Given the description of an element on the screen output the (x, y) to click on. 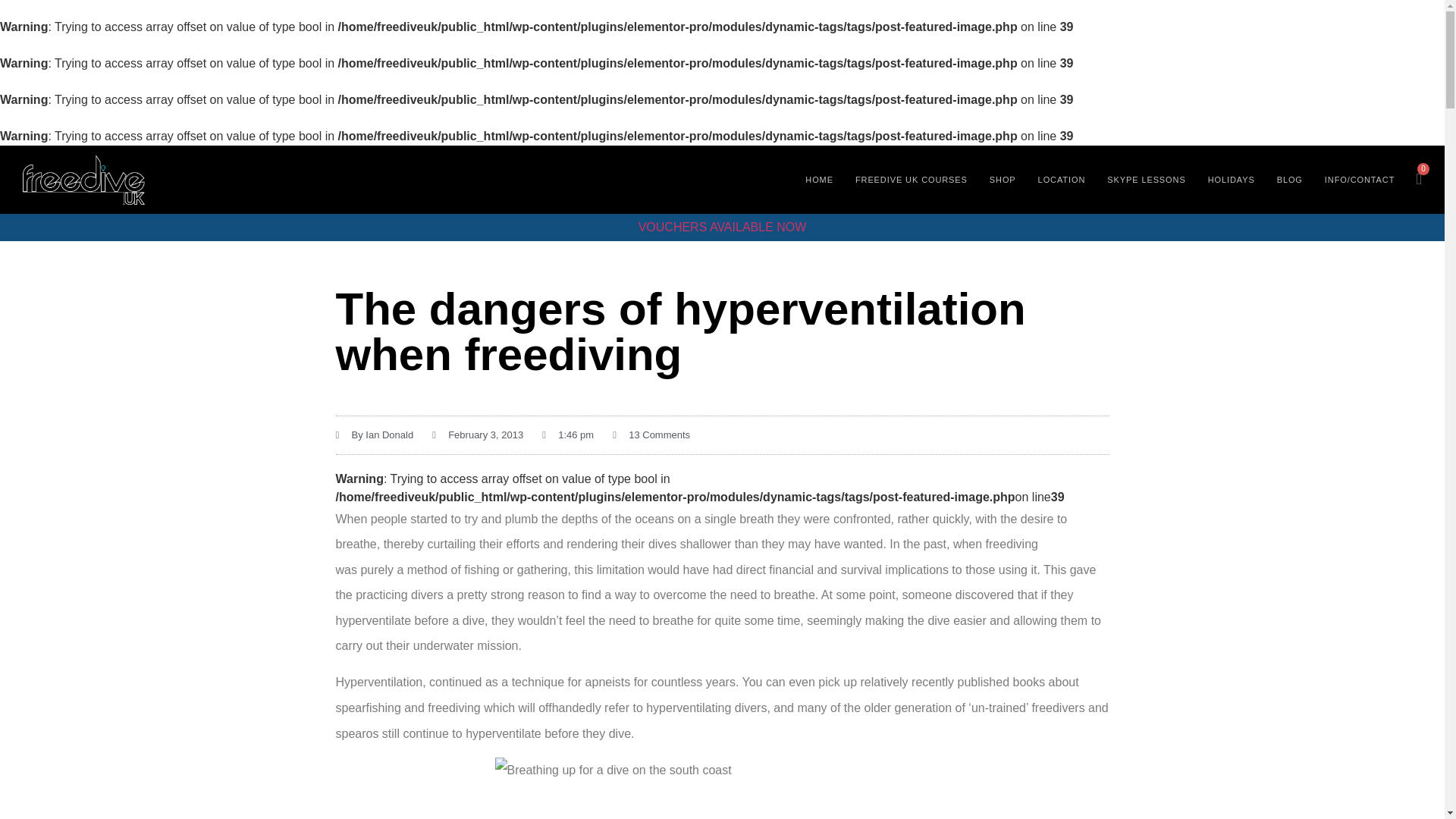
LOCATION (1061, 179)
FREEDIVE UK COURSES (910, 179)
SKYPE LESSONS (1146, 179)
HOLIDAYS (1231, 179)
